Given the description of an element on the screen output the (x, y) to click on. 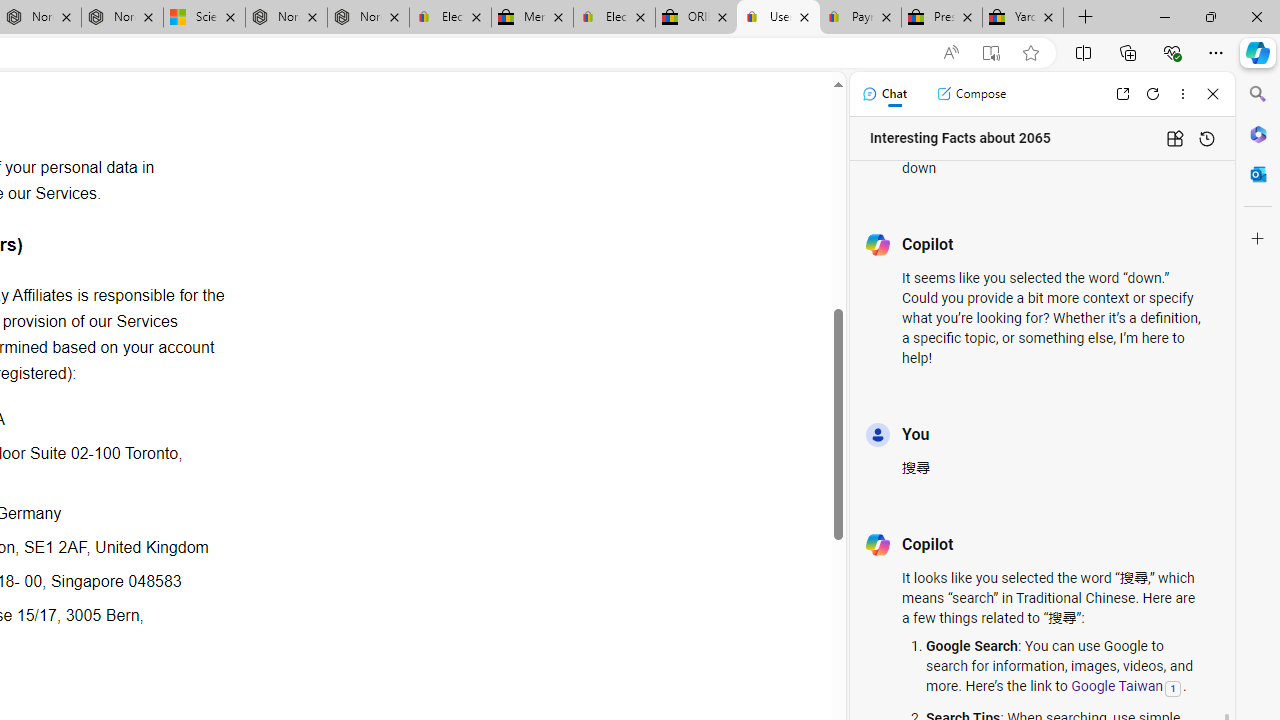
User Privacy Notice | eBay (778, 17)
Close (1213, 93)
Payments Terms of Use | eBay.com (860, 17)
Browser essentials (1171, 52)
Collections (1128, 52)
Outlook (1258, 174)
Restore (1210, 16)
Chat (884, 93)
Nordace - Summer Adventures 2024 (285, 17)
Settings and more (Alt+F) (1215, 52)
Minimize (1164, 16)
Refresh (1153, 93)
